Given the description of an element on the screen output the (x, y) to click on. 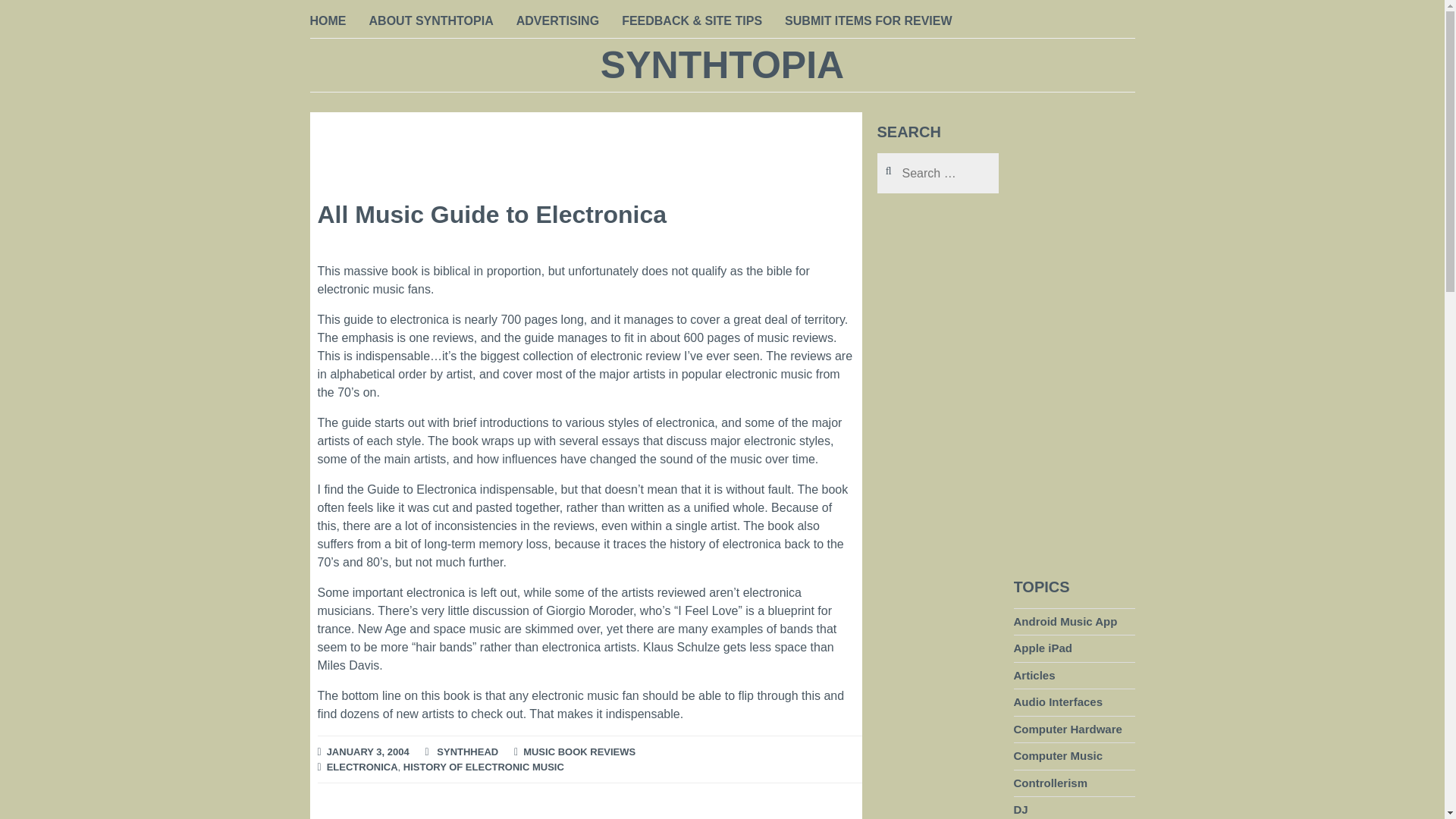
HISTORY OF ELECTRONIC MUSIC (483, 767)
SYNTHHEAD (466, 752)
Audio Interfaces (1057, 702)
ADVERTISING (557, 21)
JANUARY 3, 2004 (367, 752)
SYNTHTOPIA (721, 65)
HOME (327, 21)
ABOUT SYNTHTOPIA (431, 21)
3rd party ad content (936, 743)
Articles (1033, 675)
Apple iPad (1042, 648)
Computer Music (1057, 755)
3rd party ad content (584, 146)
3rd party ad content (1073, 339)
MUSIC BOOK REVIEWS (578, 752)
